Given the description of an element on the screen output the (x, y) to click on. 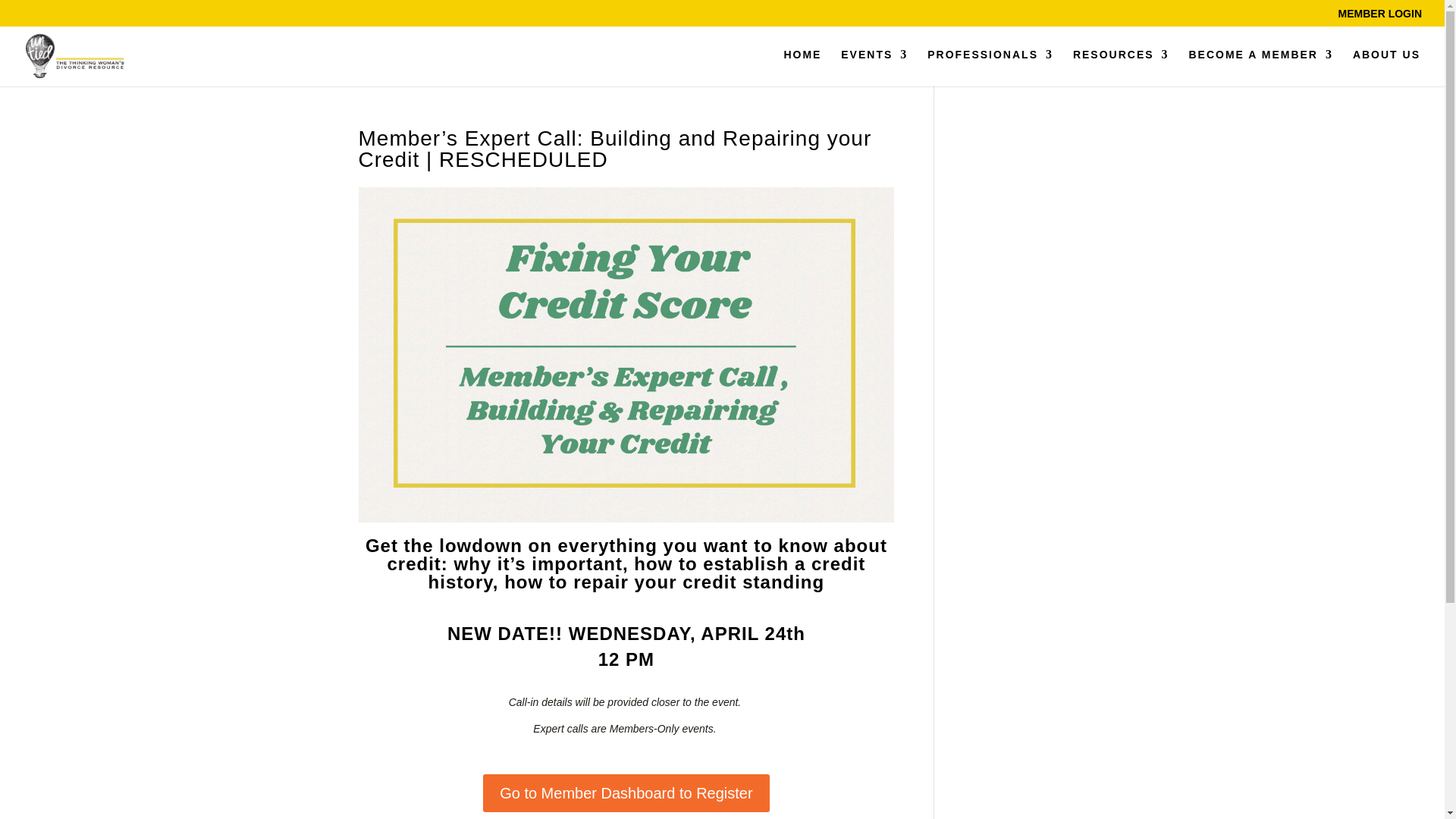
HOME (802, 67)
ABOUT US (1386, 67)
EVENTS (874, 67)
PROFESSIONALS (989, 67)
MEMBER LOGIN (1380, 16)
Go to Member Dashboard to Register (626, 792)
BECOME A MEMBER (1260, 67)
RESOURCES (1121, 67)
